Given the description of an element on the screen output the (x, y) to click on. 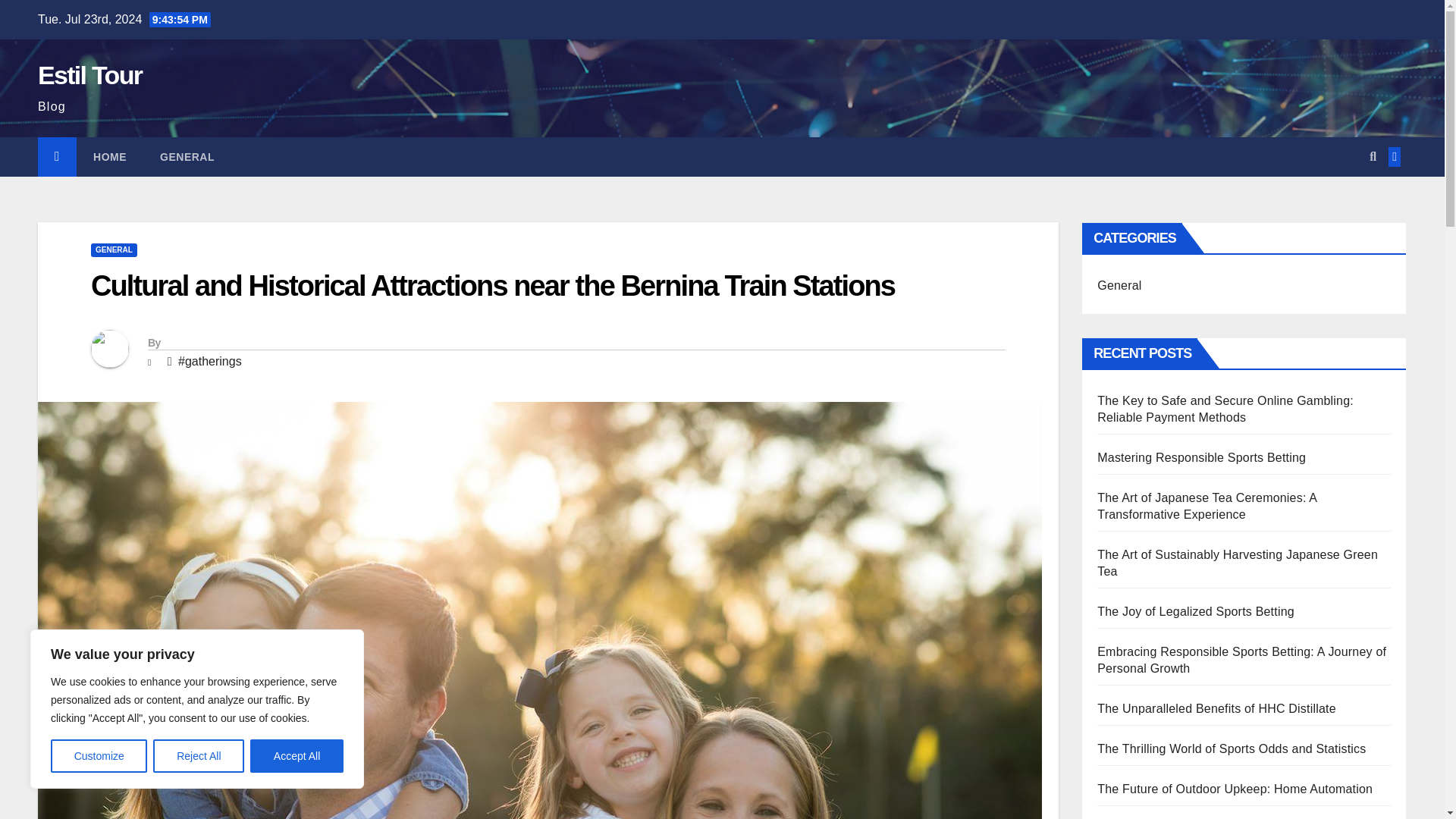
Customize (98, 756)
HOME (109, 156)
Accept All (296, 756)
Reject All (198, 756)
Home (109, 156)
General (186, 156)
GENERAL (113, 250)
GENERAL (186, 156)
Estil Tour (89, 74)
